Given the description of an element on the screen output the (x, y) to click on. 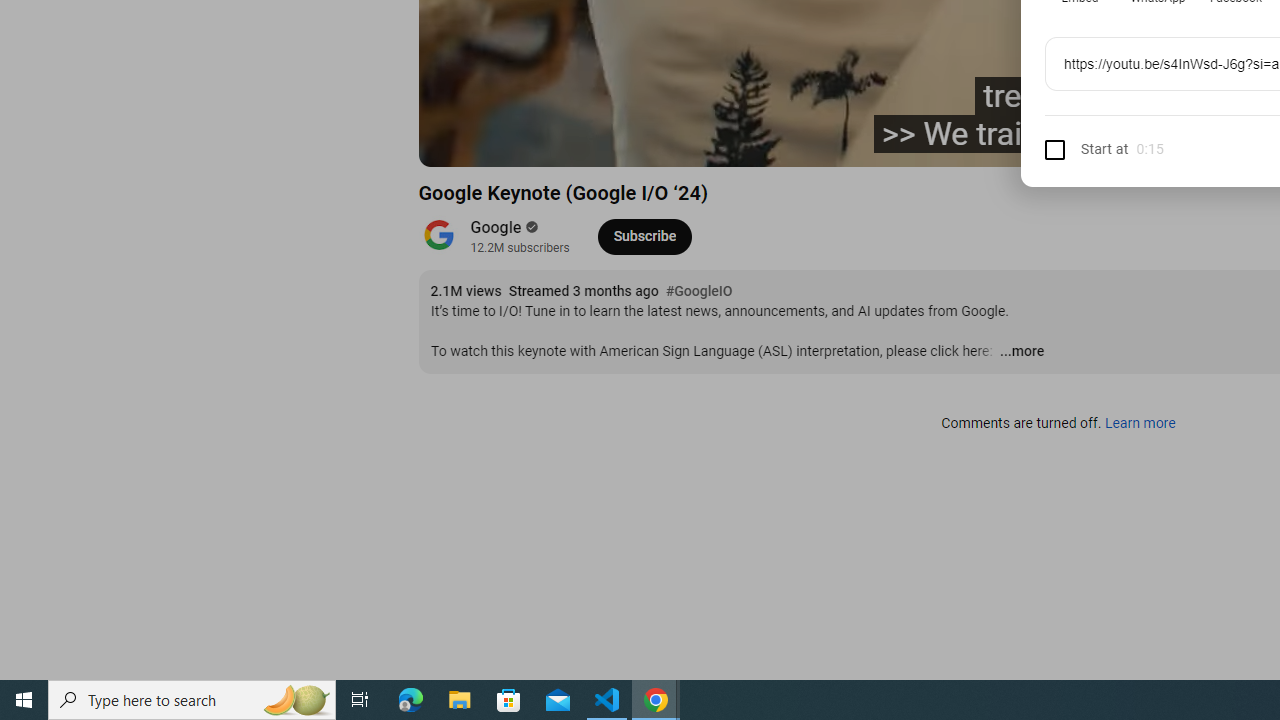
Previous (SHIFT+p) (456, 142)
...more (1021, 352)
Google (496, 227)
Subscribe to Google. (644, 236)
#GoogleIO (699, 291)
Next (SHIFT+n) (546, 142)
Learn more (1139, 423)
Opening Film (763, 142)
Mute (m) (594, 142)
Start at (1086, 148)
Verified (530, 227)
Play (k) (502, 142)
